Given the description of an element on the screen output the (x, y) to click on. 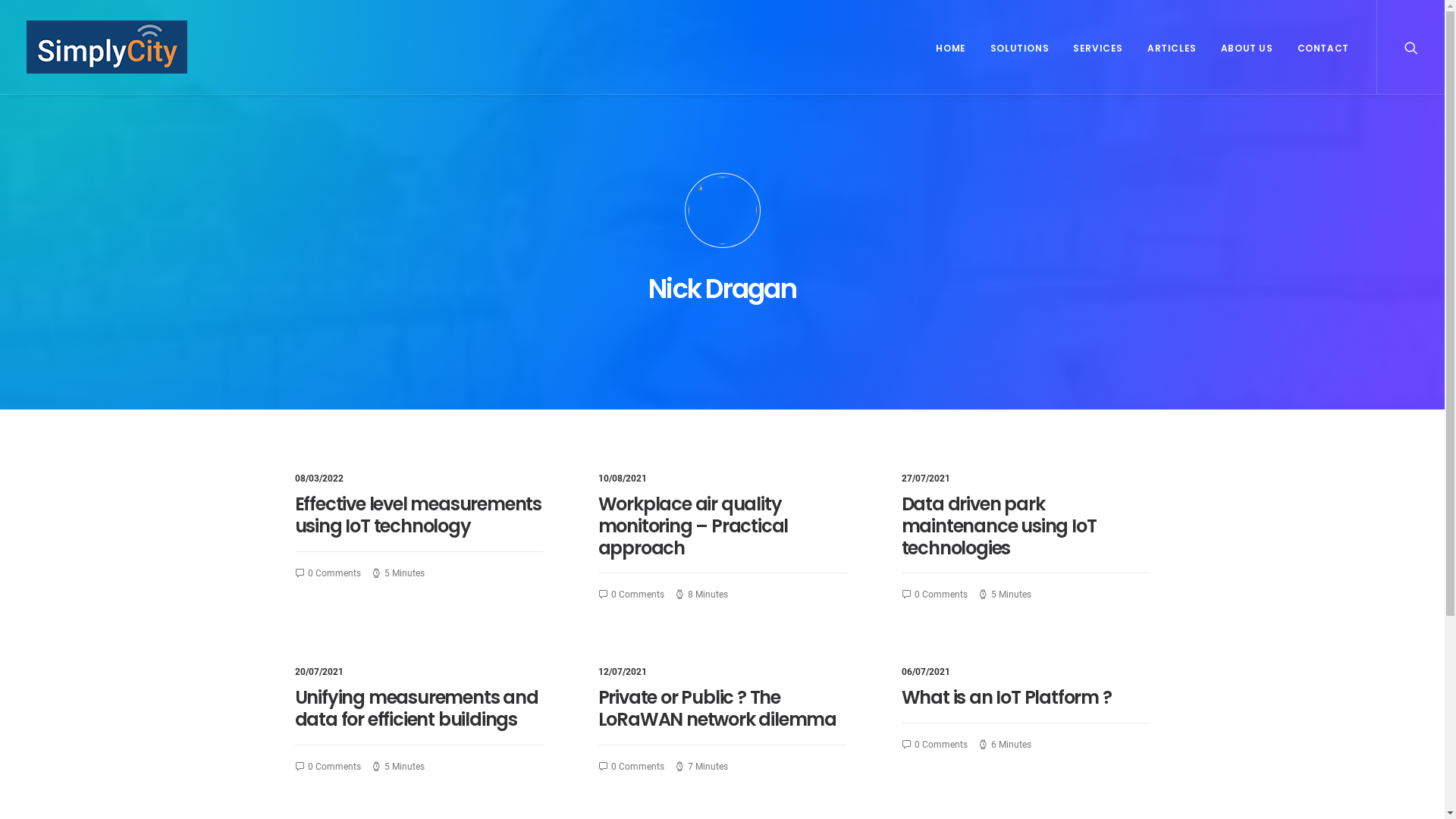
Private or Public ? The LoRaWAN network dilemma Element type: text (716, 707)
Unifying measurements and data for efficient buildings Element type: text (415, 707)
0 Comments Element type: text (332, 573)
Effective level measurements using IoT technology Element type: text (417, 514)
0 Comments Element type: text (635, 767)
Data driven park maintenance using IoT technologies Element type: text (997, 525)
SERVICES Element type: text (1097, 47)
SOLUTIONS Element type: text (1019, 47)
CONTACT Element type: text (1317, 47)
0 Comments Element type: text (332, 767)
0 Comments Element type: text (938, 745)
0 Comments Element type: text (938, 594)
0 Comments Element type: text (635, 594)
ABOUT US Element type: text (1246, 47)
ARTICLES Element type: text (1171, 47)
What is an IoT Platform ? Element type: text (1005, 696)
HOME Element type: text (950, 47)
